Given the description of an element on the screen output the (x, y) to click on. 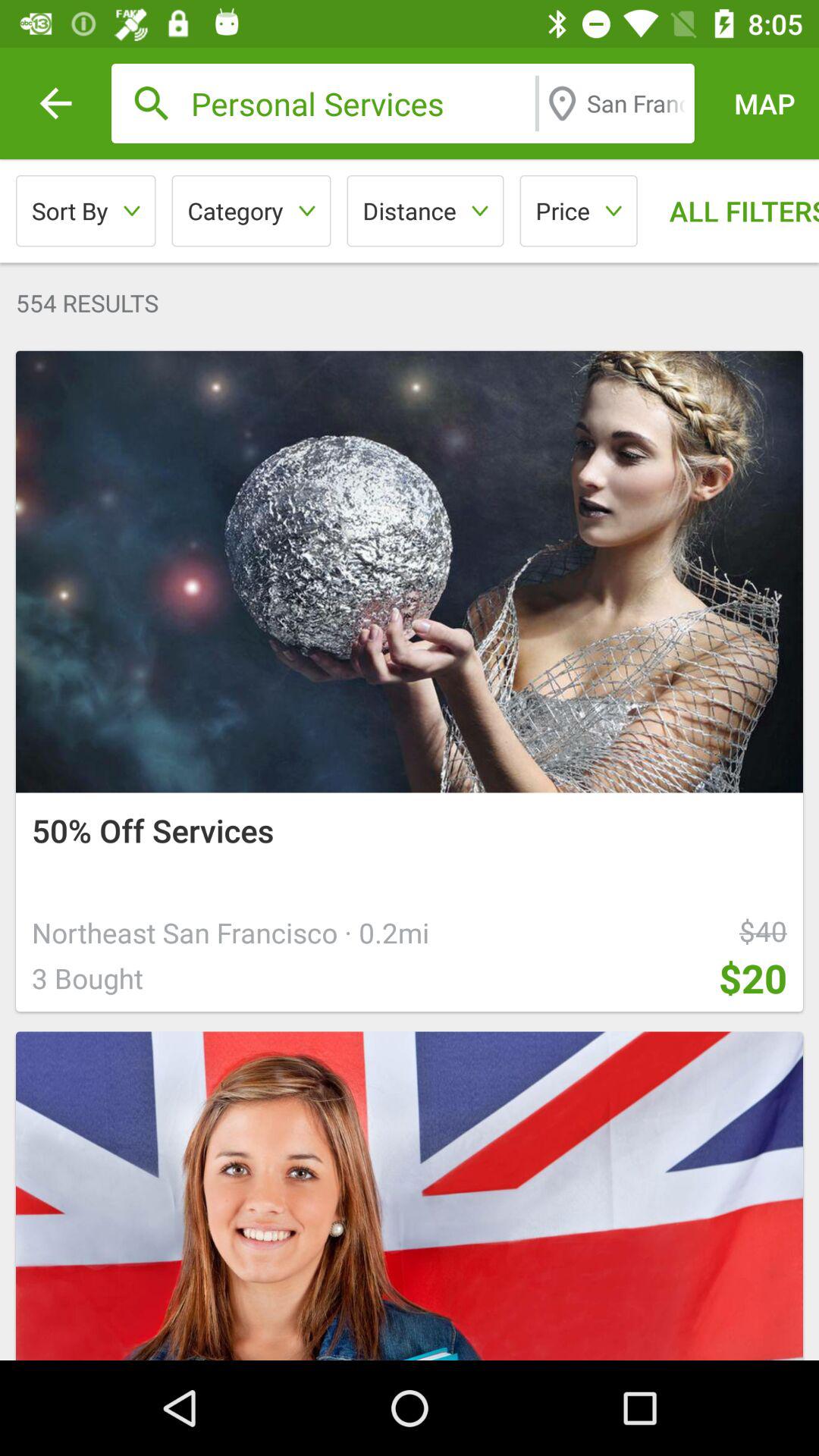
choose the icon below the map (732, 210)
